Given the description of an element on the screen output the (x, y) to click on. 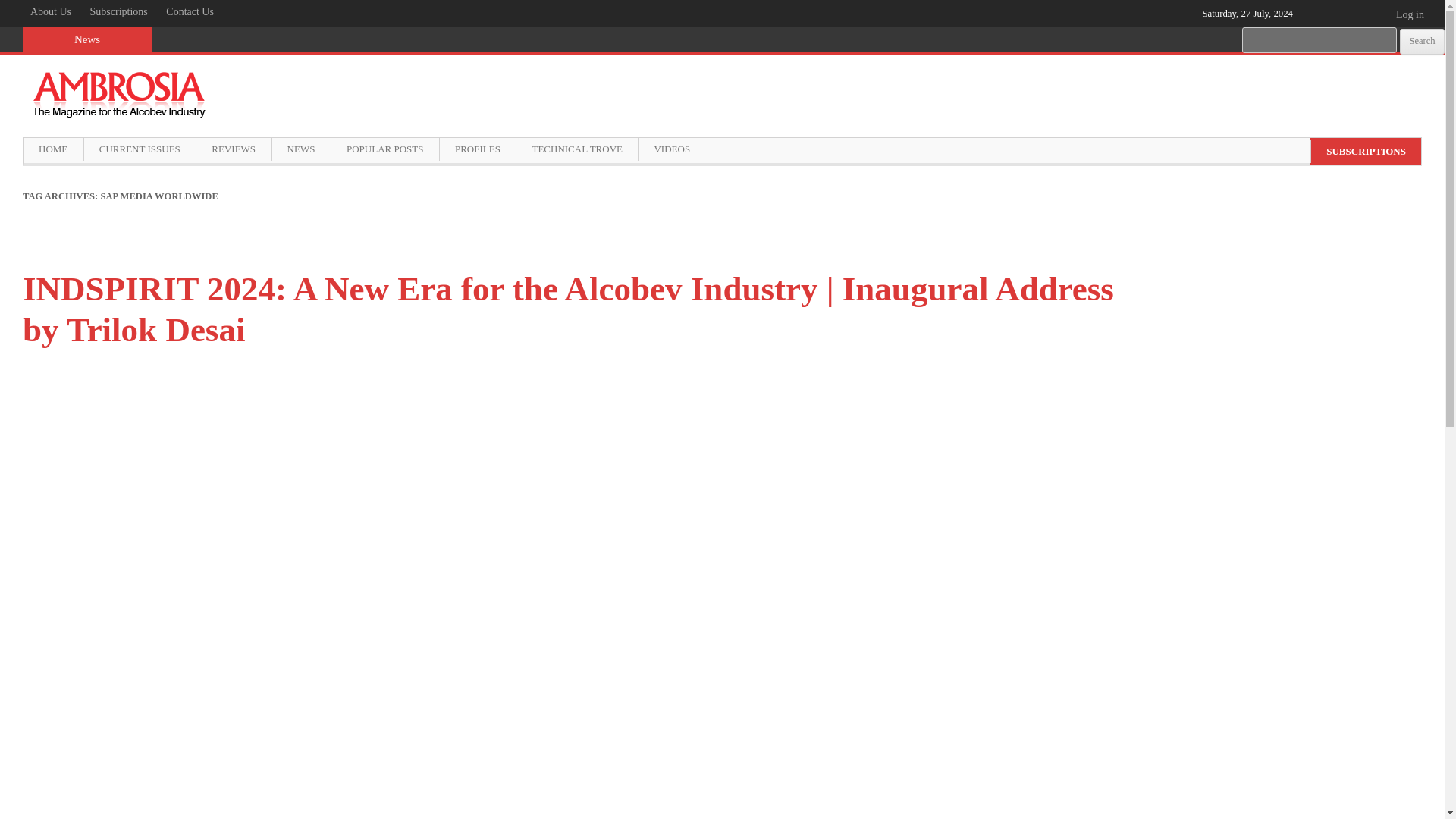
NEWS (300, 149)
HOME (52, 149)
About Us (50, 12)
SUBSCRIPTIONS (1365, 151)
REVIEWS (232, 149)
Subscriptions (118, 12)
POPULAR POSTS (384, 149)
CURRENT ISSUES (138, 149)
TECHNICAL TROVE (576, 149)
VIDEOS (670, 149)
Contact Us (189, 12)
Log in (1415, 22)
PROFILES (477, 149)
